Given the description of an element on the screen output the (x, y) to click on. 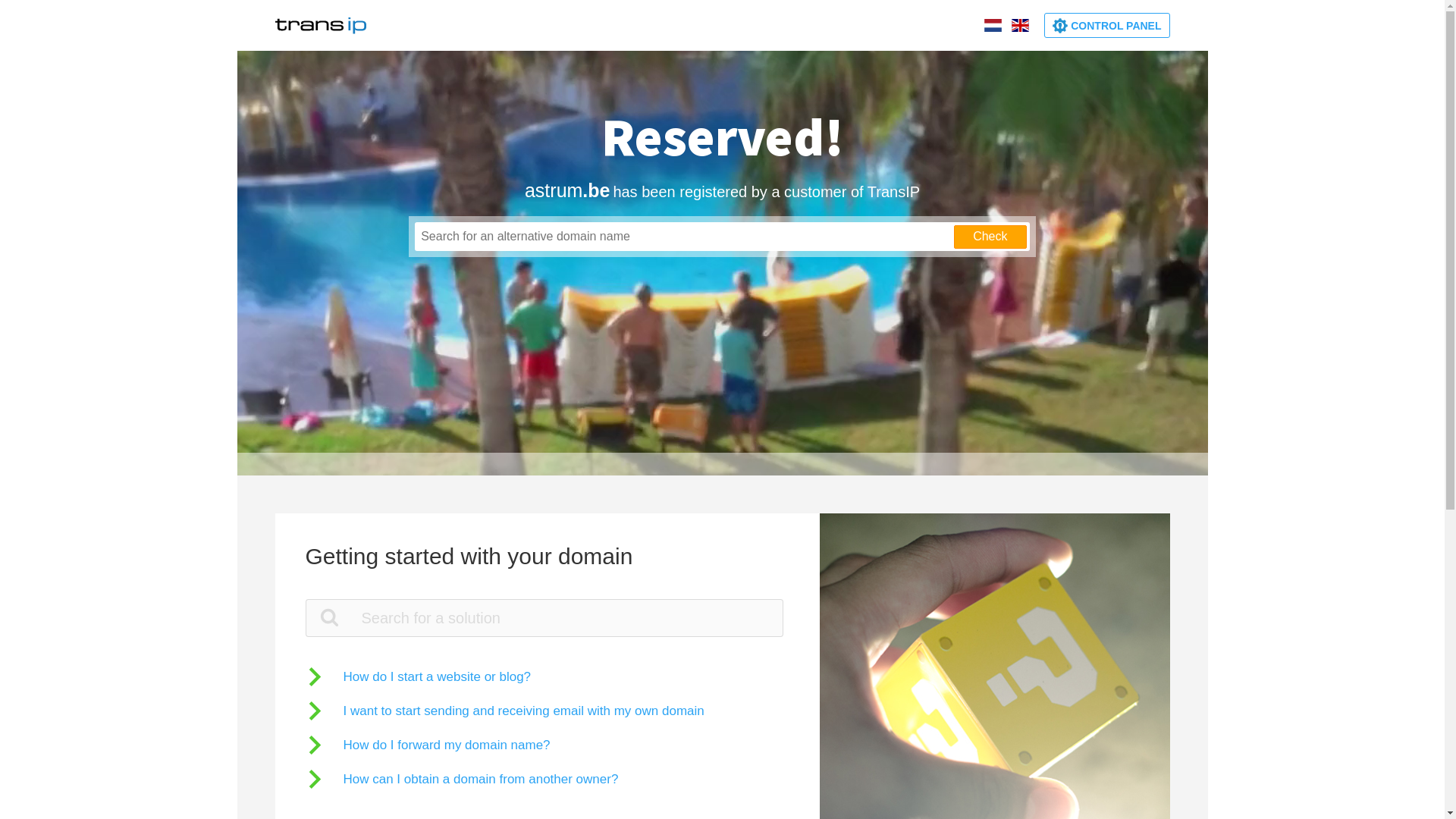
CONTROL PANEL Element type: text (1106, 24)
How can I obtain a domain from another owner? Element type: text (461, 778)
Check Element type: text (989, 236)
How do I forward my domain name? Element type: text (426, 744)
How do I start a website or blog? Element type: text (417, 676)
